Given the description of an element on the screen output the (x, y) to click on. 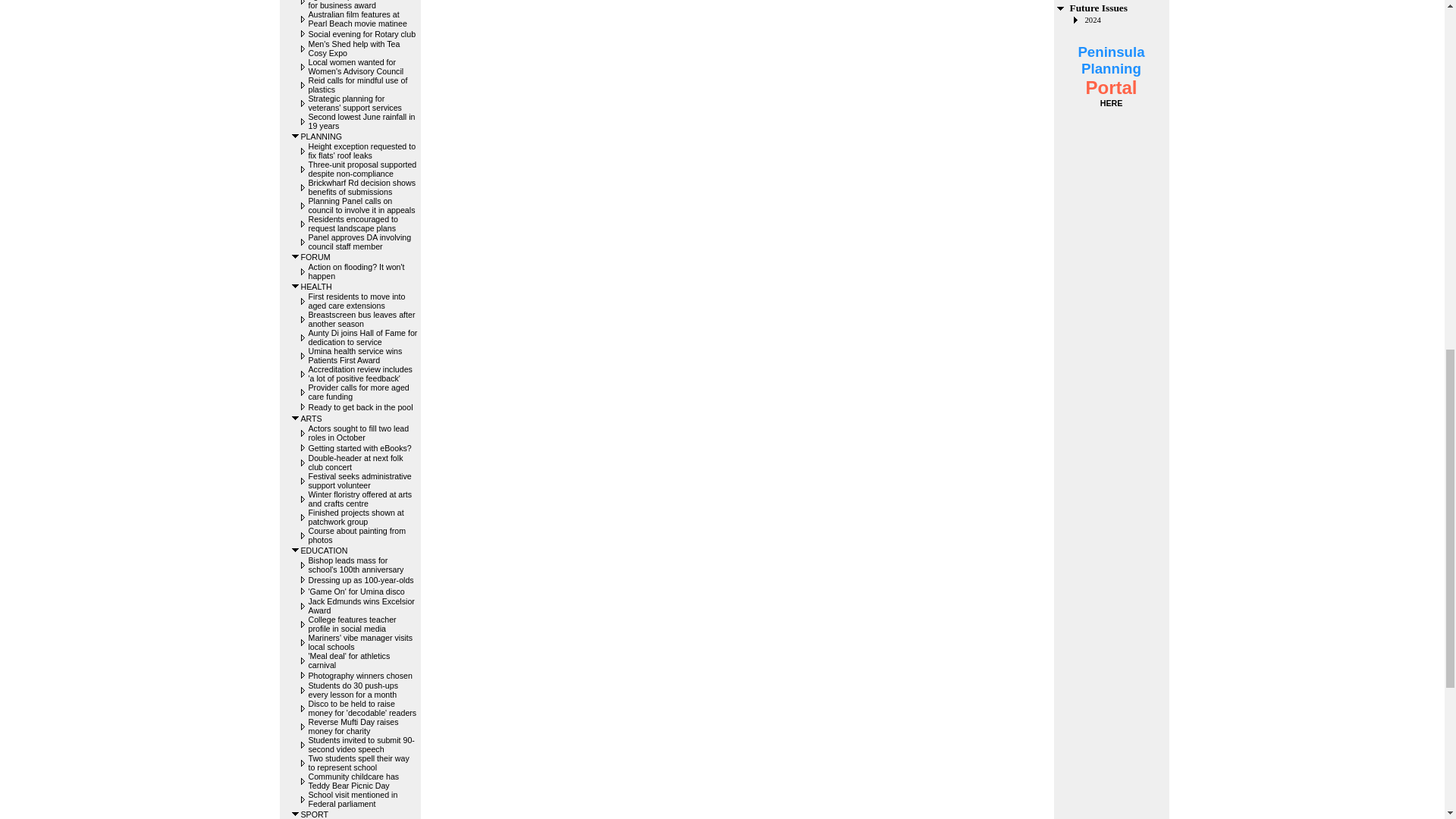
Collapse  EDUCATION  (295, 550)
Social evening for Rotary club (360, 33)
Collapse  FORUM  (295, 256)
Aged care provider nominated for business award (361, 4)
Men's Shed help with Tea Cosy Expo (352, 48)
Collapse  ARTS  (295, 418)
Collapse  SPORT  (295, 813)
Collapse  HEALTH  (295, 285)
Australian film features at Pearl Beach movie matinee (356, 18)
Collapse  PLANNING  (295, 135)
